Given the description of an element on the screen output the (x, y) to click on. 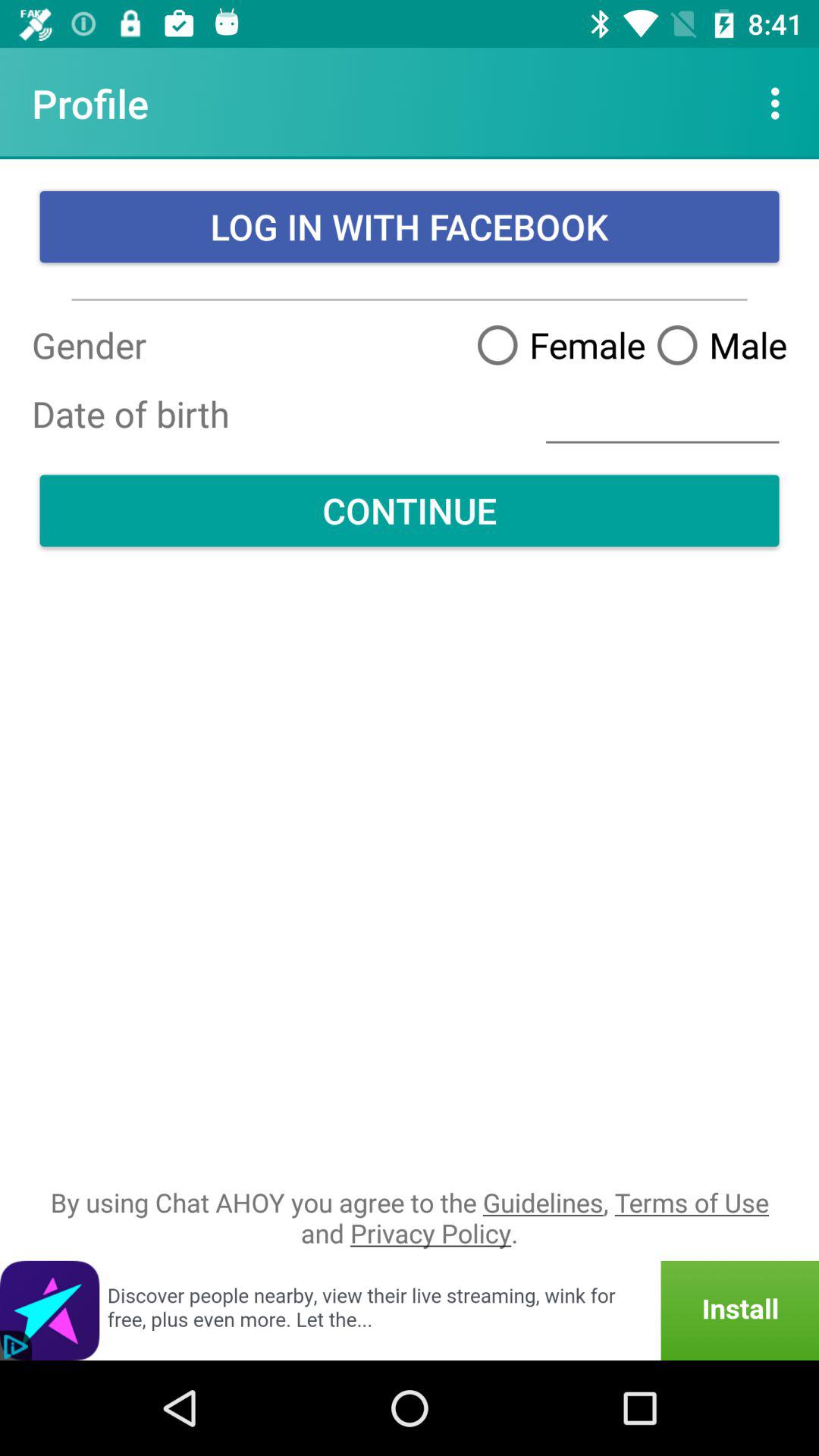
turn on icon below continue item (409, 1217)
